Given the description of an element on the screen output the (x, y) to click on. 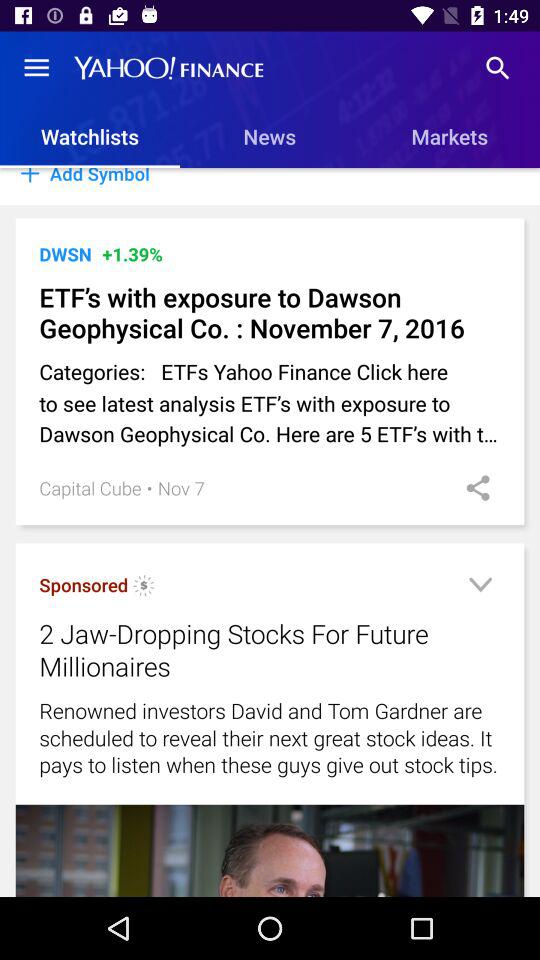
click the item above markets item (497, 67)
